Given the description of an element on the screen output the (x, y) to click on. 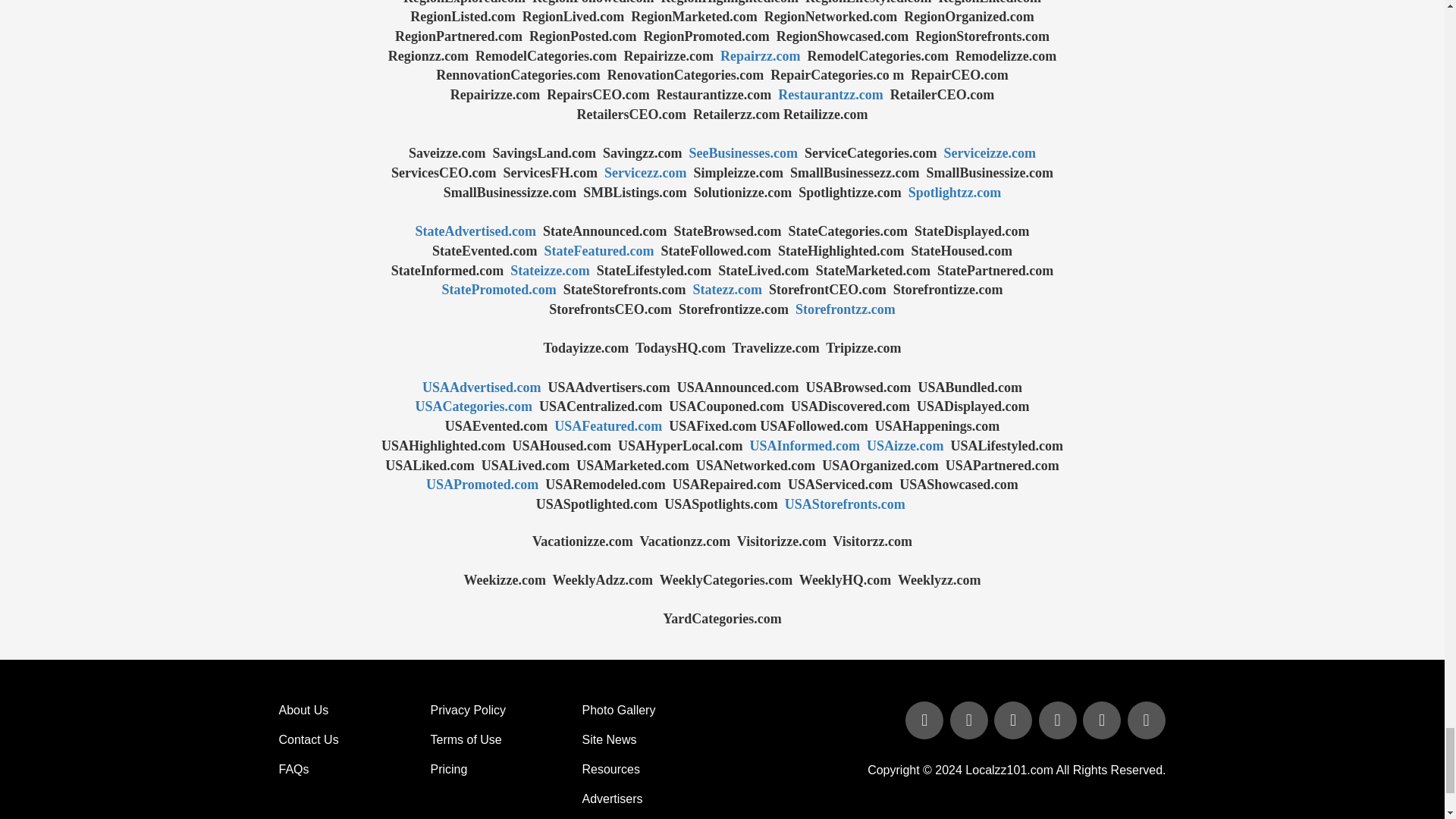
Follow Us on Linked In (1014, 721)
Follow Us on Pinterest (1103, 721)
Follow Us on Twitter (970, 721)
Follow Us on Instagram (1145, 721)
Follow Us on You Tube (1058, 721)
Follow Us on Facebook (925, 721)
